Given the description of an element on the screen output the (x, y) to click on. 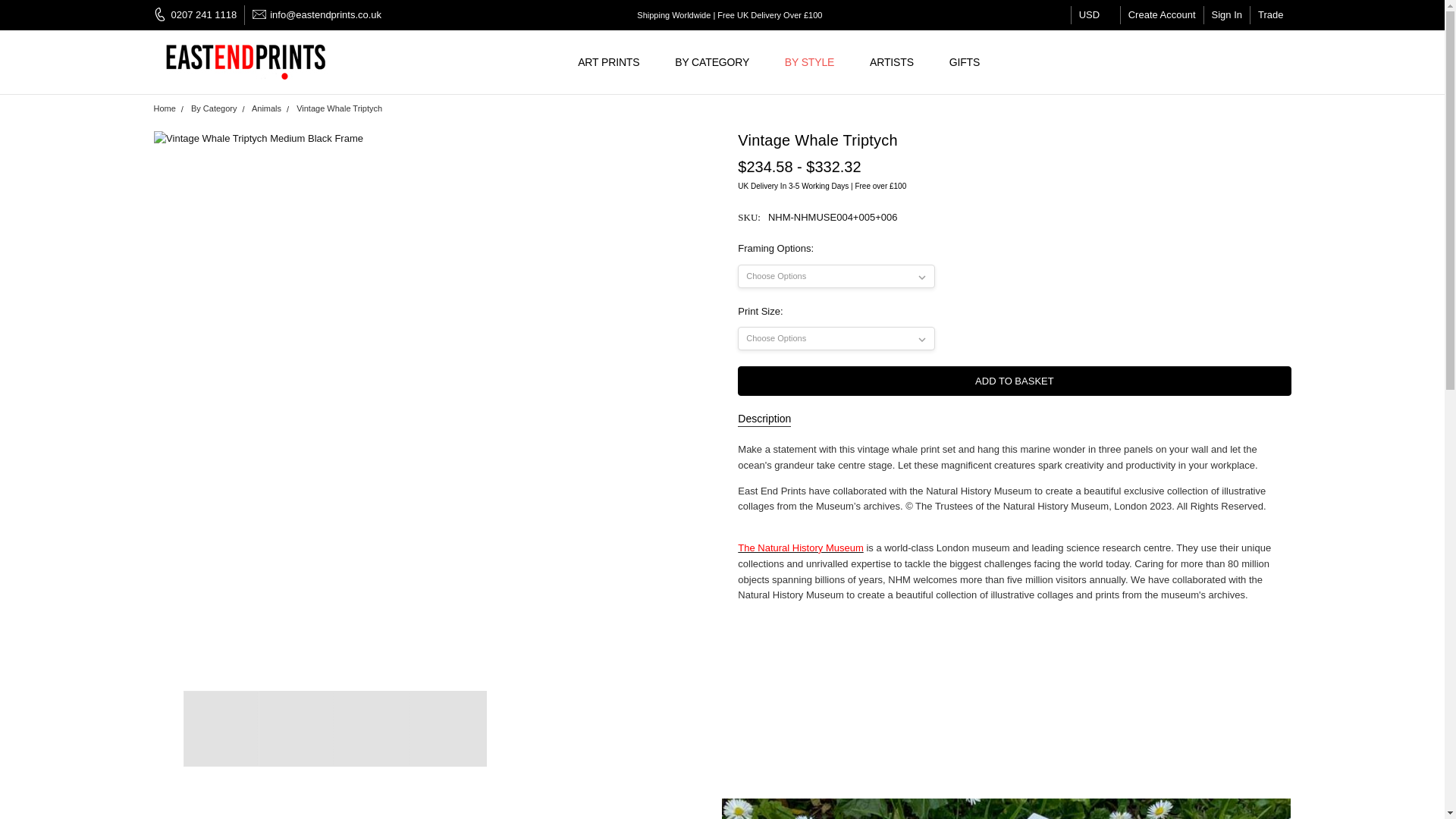
Vintage Whale Triptych Medium Black Frame (221, 728)
0207 241 1118 (198, 14)
BY CATEGORY (718, 62)
Sign In (1226, 15)
Vintage Whale Triptych (448, 728)
Create Account (1162, 15)
ART PRINTS (614, 62)
Vintage Whale Triptych Medium White Frame (372, 728)
Add to Basket (1014, 380)
Trade (1270, 15)
